Given the description of an element on the screen output the (x, y) to click on. 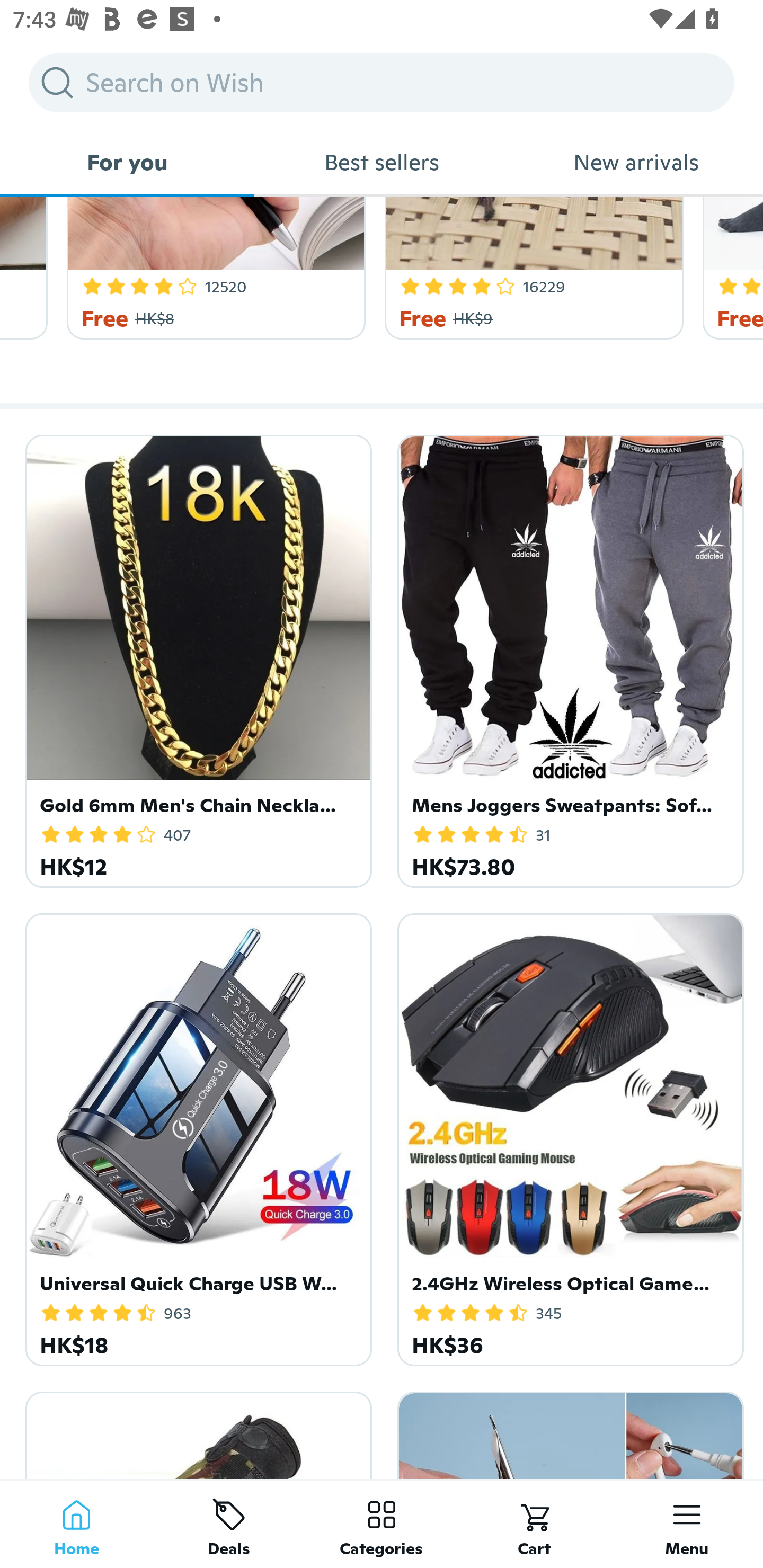
Search on Wish (381, 82)
For you (127, 161)
Best sellers (381, 161)
New arrivals (635, 161)
3.9 Star Rating 12520 Free HK$8 (212, 268)
3.8 Star Rating 16229 Free HK$9 (530, 268)
Home (76, 1523)
Deals (228, 1523)
Categories (381, 1523)
Cart (533, 1523)
Menu (686, 1523)
